Given the description of an element on the screen output the (x, y) to click on. 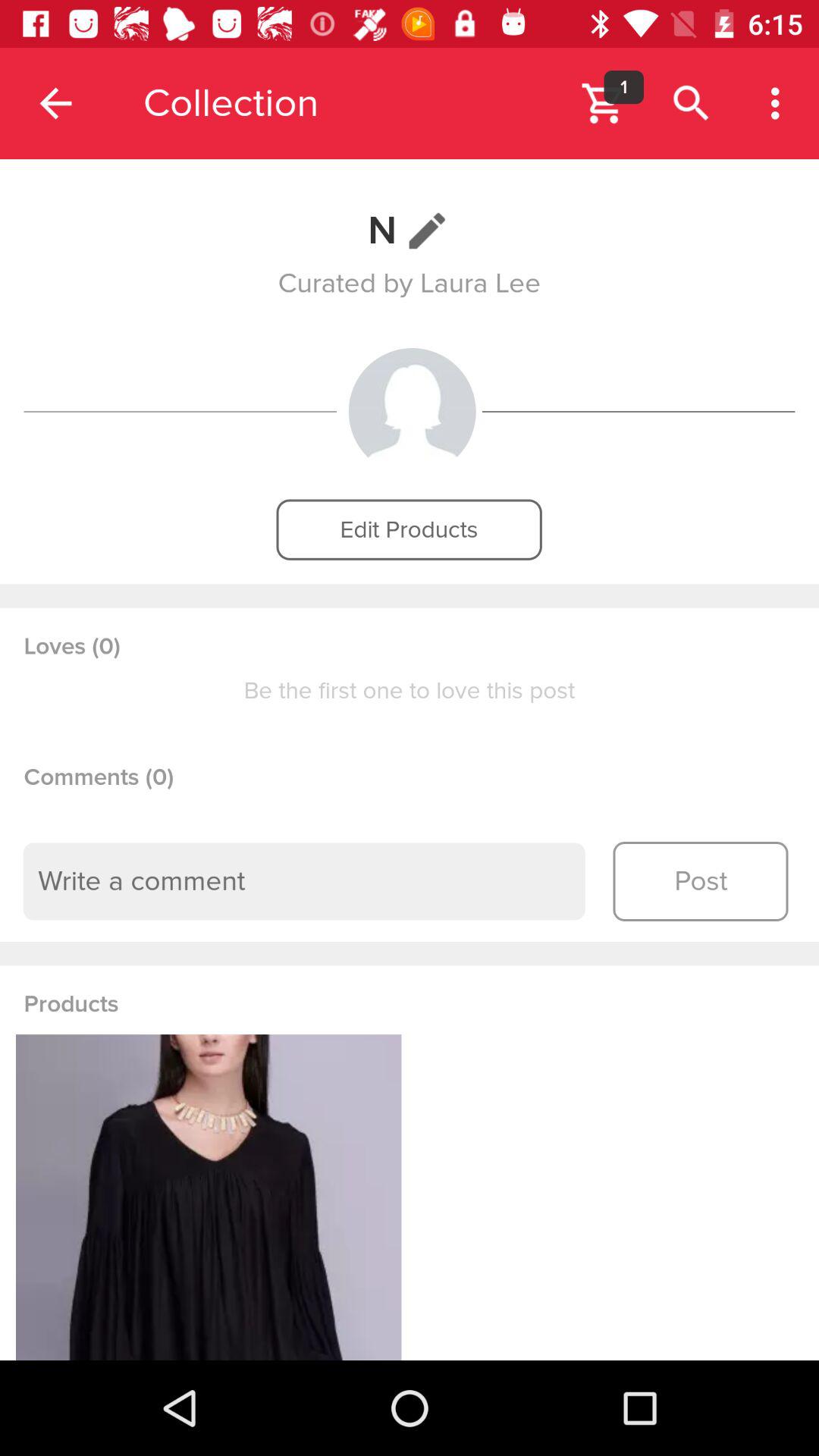
choose the icon above the products item (304, 881)
